Given the description of an element on the screen output the (x, y) to click on. 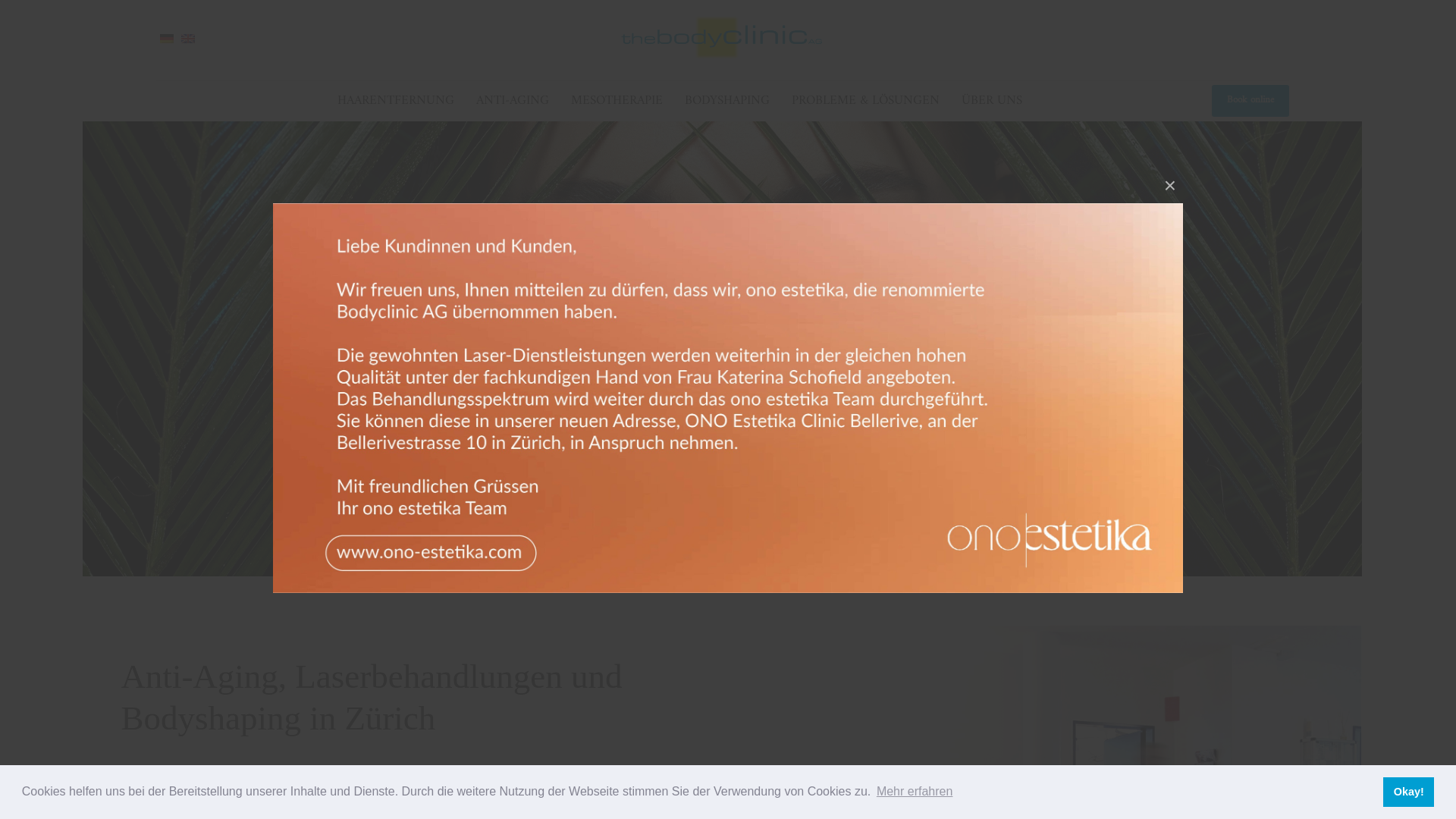
BODYSHAPING Element type: text (726, 100)
HAARENTFERNUNG Element type: text (395, 100)
Mehr erfahren Element type: text (914, 791)
Header_Bodyclinic Element type: hover (728, 398)
Book online Element type: text (1250, 100)
Okay! Element type: text (1408, 791)
MESOTHERAPIE Element type: text (616, 100)
ANTI-AGING Element type: text (512, 100)
